Given the description of an element on the screen output the (x, y) to click on. 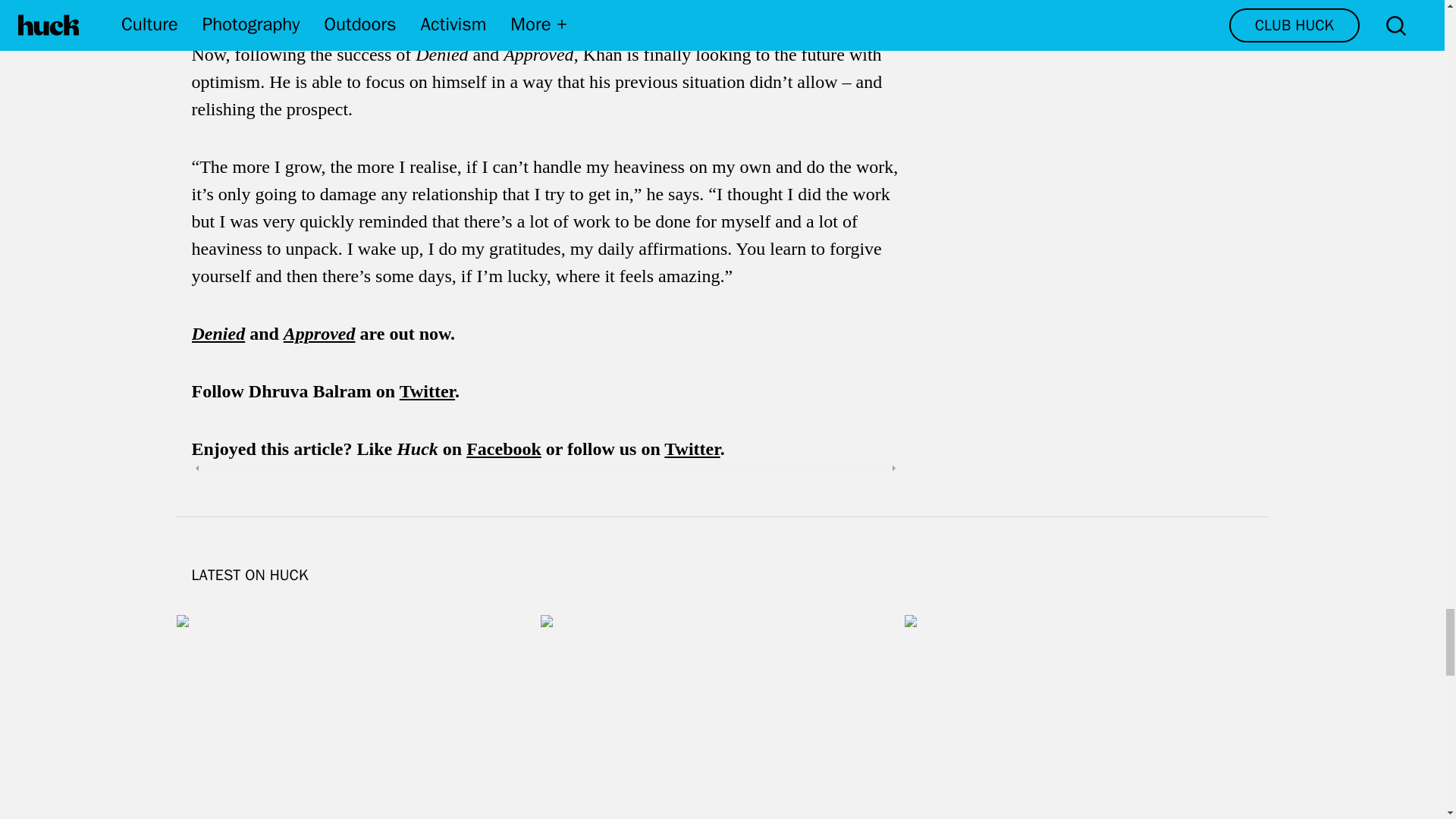
Facebook (503, 448)
Approved (319, 333)
Twitter (691, 448)
Denied (217, 333)
Twitter (426, 391)
